Given the description of an element on the screen output the (x, y) to click on. 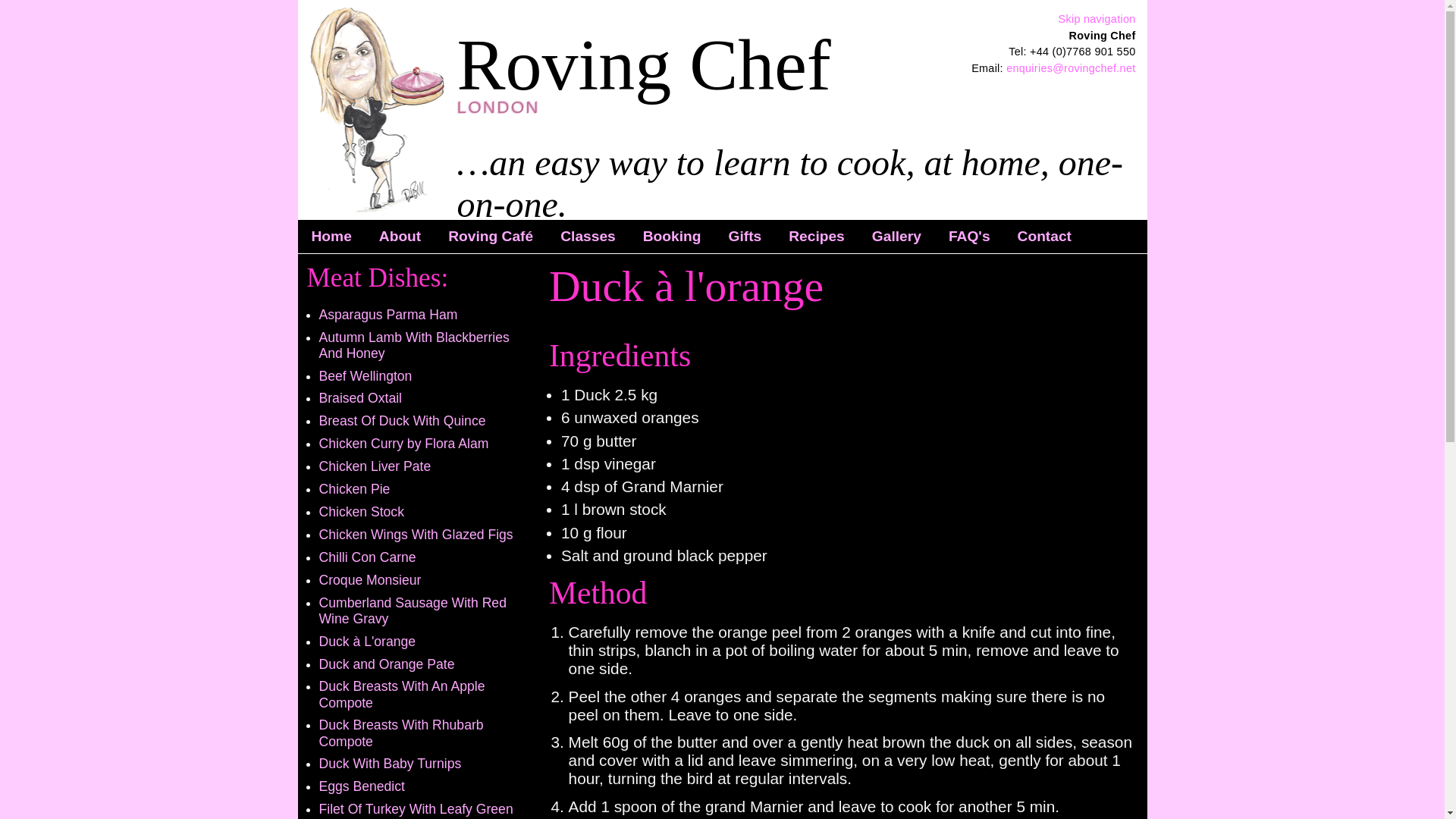
Gallery (896, 236)
Contact (1044, 236)
Duck Breasts With An Apple Compote (401, 694)
Chicken Liver Pate (374, 466)
Duck Breasts With Rhubarb Compote (400, 732)
Duck With Baby Turnips (389, 763)
Gifts (744, 236)
Recipes (816, 236)
Booking (671, 236)
Classes (587, 236)
